Given the description of an element on the screen output the (x, y) to click on. 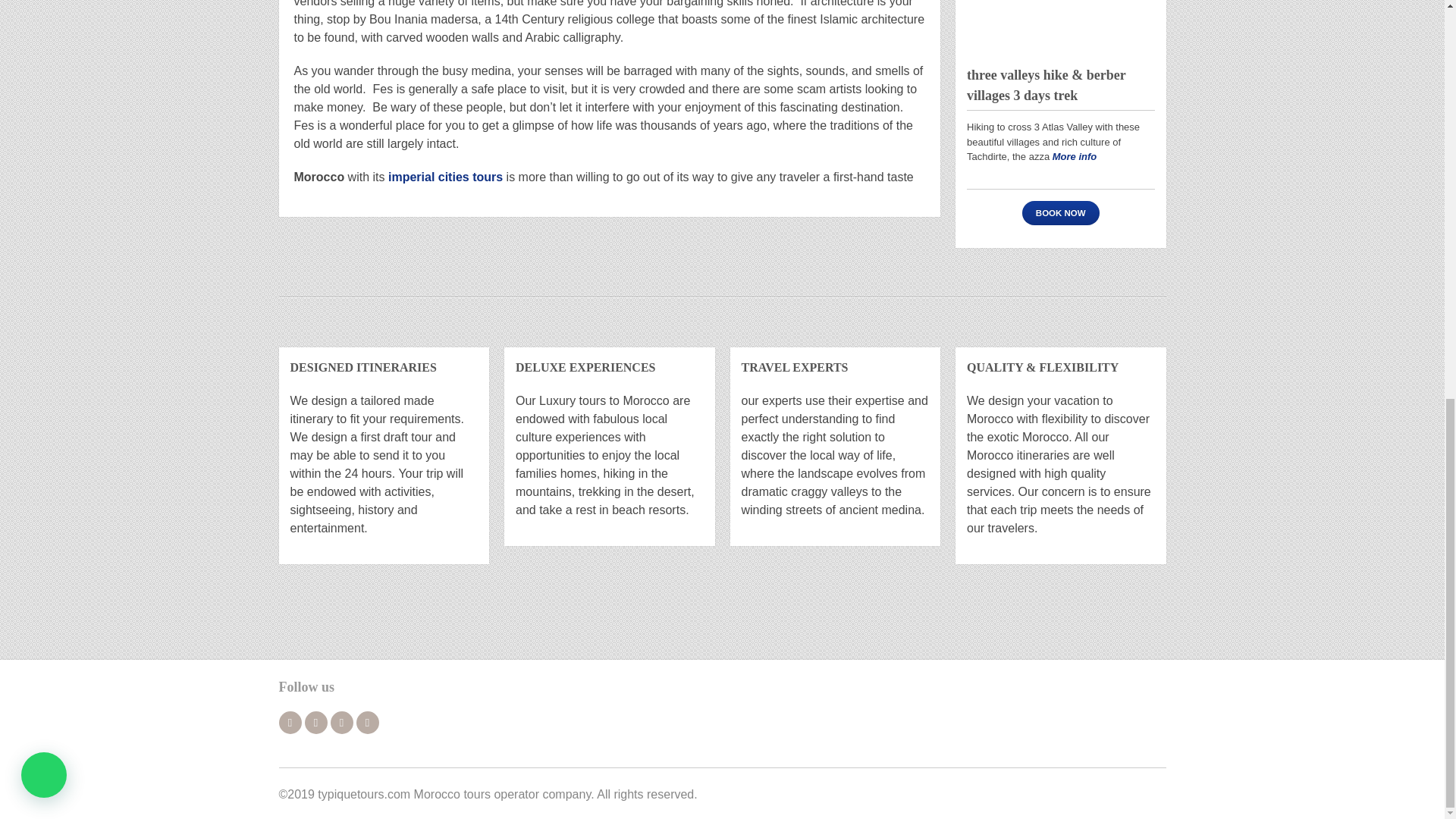
facebook (290, 721)
imperial cities tours (445, 176)
BOOK NOW (1060, 212)
youtube (341, 721)
instagram (367, 721)
More info (1074, 156)
Book now (1060, 212)
twitter (315, 721)
